Given the description of an element on the screen output the (x, y) to click on. 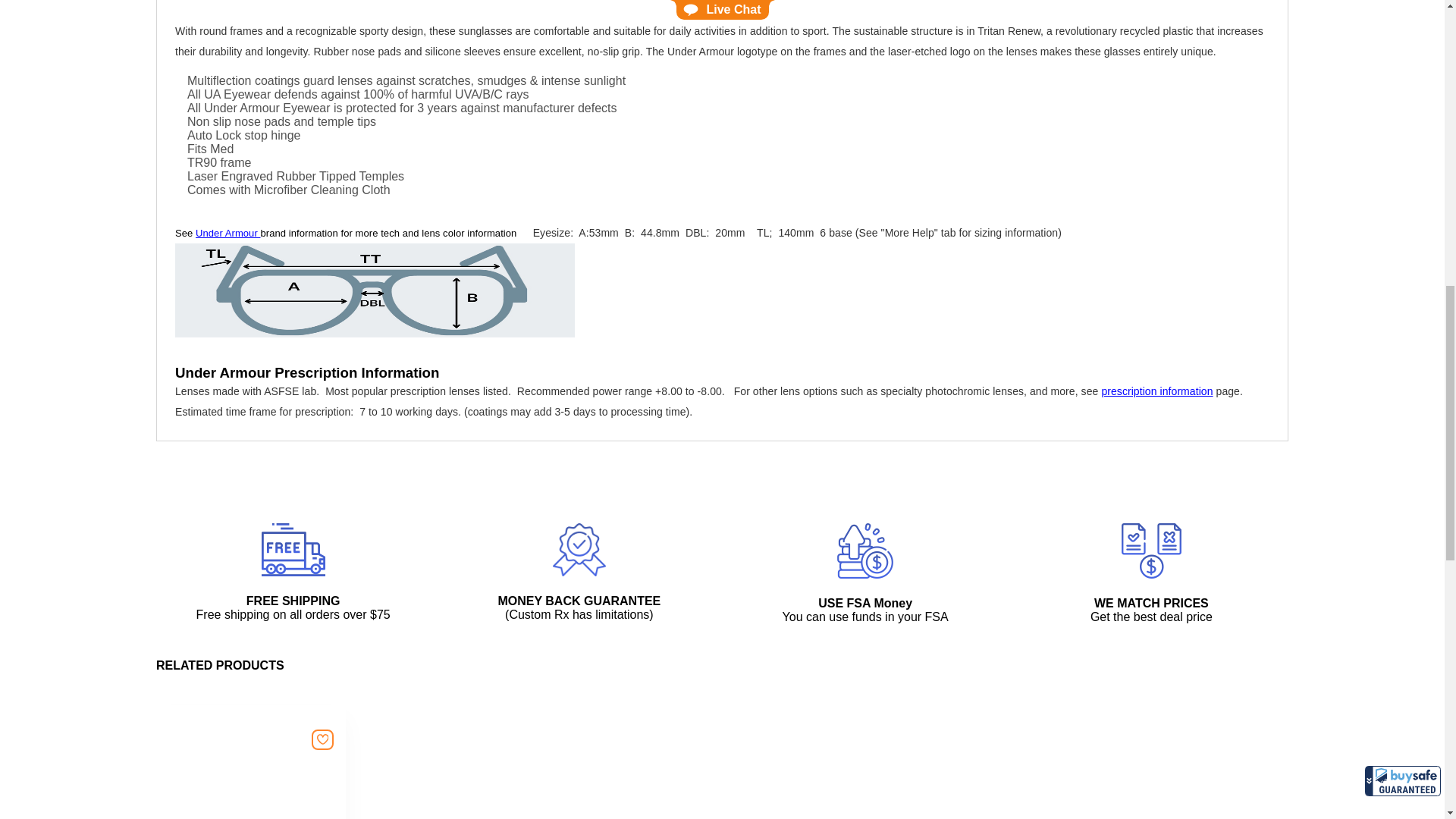
prescription information (1156, 390)
Under Armour (227, 233)
Under Amour sunglasses (227, 233)
